Given the description of an element on the screen output the (x, y) to click on. 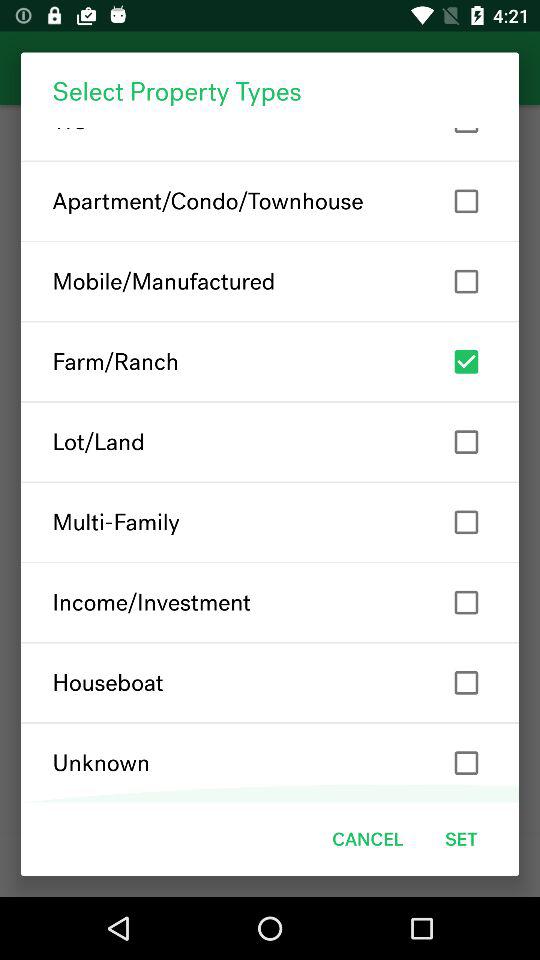
choose the mobile/manufactured item (270, 281)
